Given the description of an element on the screen output the (x, y) to click on. 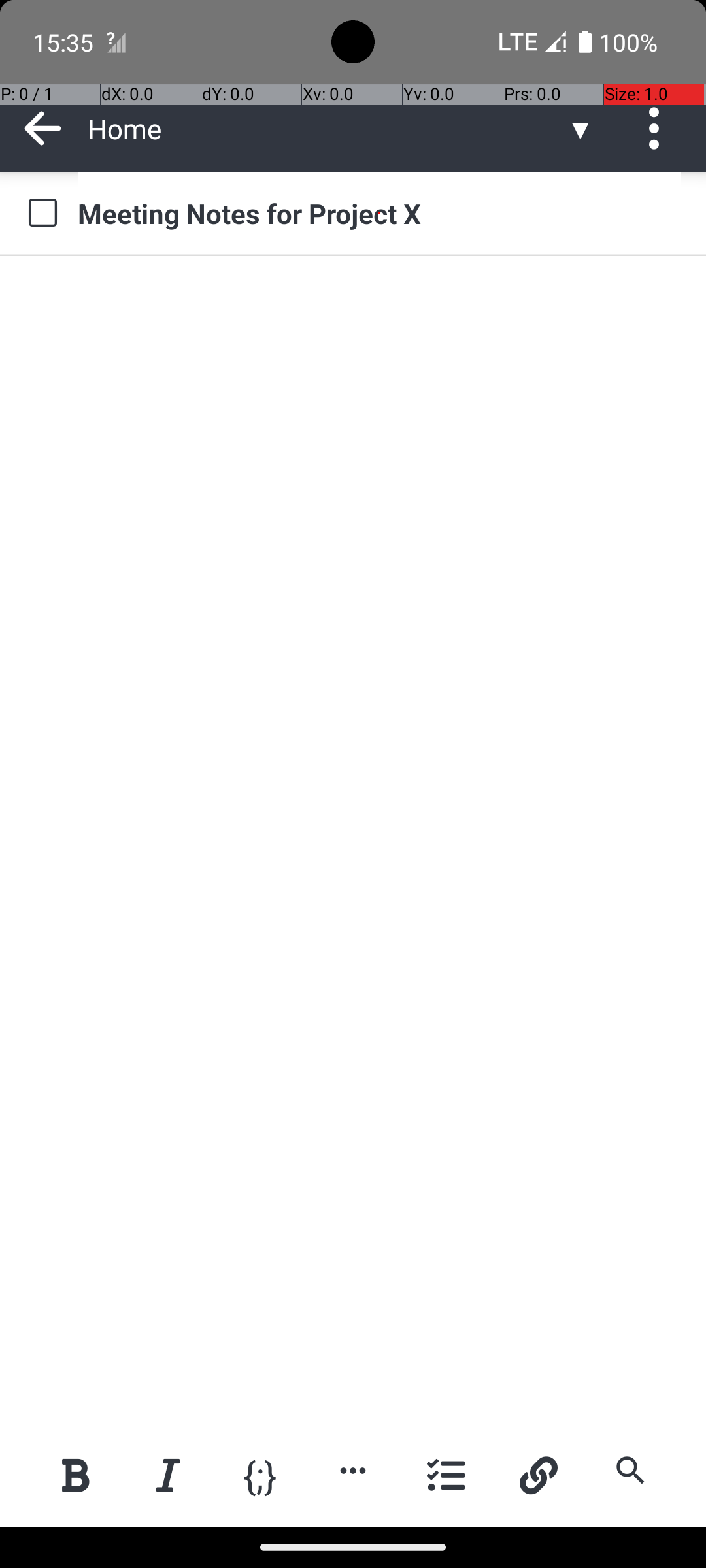
Meeting Notes for Project X Element type: android.widget.EditText (378, 213)

 Element type: android.widget.EditText (354, 298)
